Given the description of an element on the screen output the (x, y) to click on. 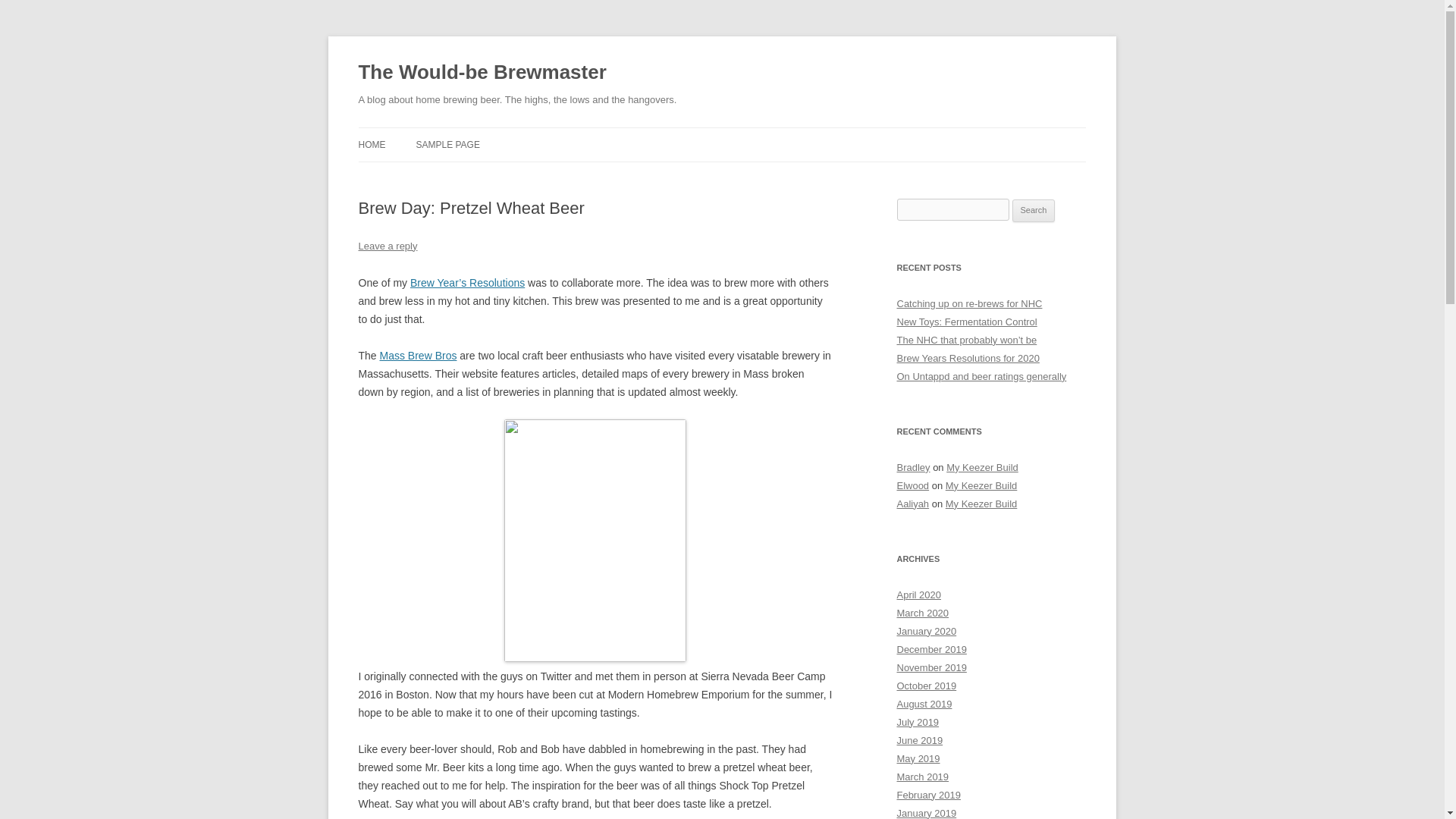
The Would-be Brewmaster (481, 72)
Mass Brew Bros (418, 355)
Aaliyah (912, 503)
Catching up on re-brews for NHC (969, 303)
SAMPLE PAGE (446, 144)
My Keezer Build (980, 485)
The Would-be Brewmaster (481, 72)
My Keezer Build (981, 467)
New Toys: Fermentation Control (966, 321)
Search (1033, 210)
Search (1033, 210)
March 2020 (922, 613)
April 2020 (918, 594)
January 2020 (926, 631)
